Given the description of an element on the screen output the (x, y) to click on. 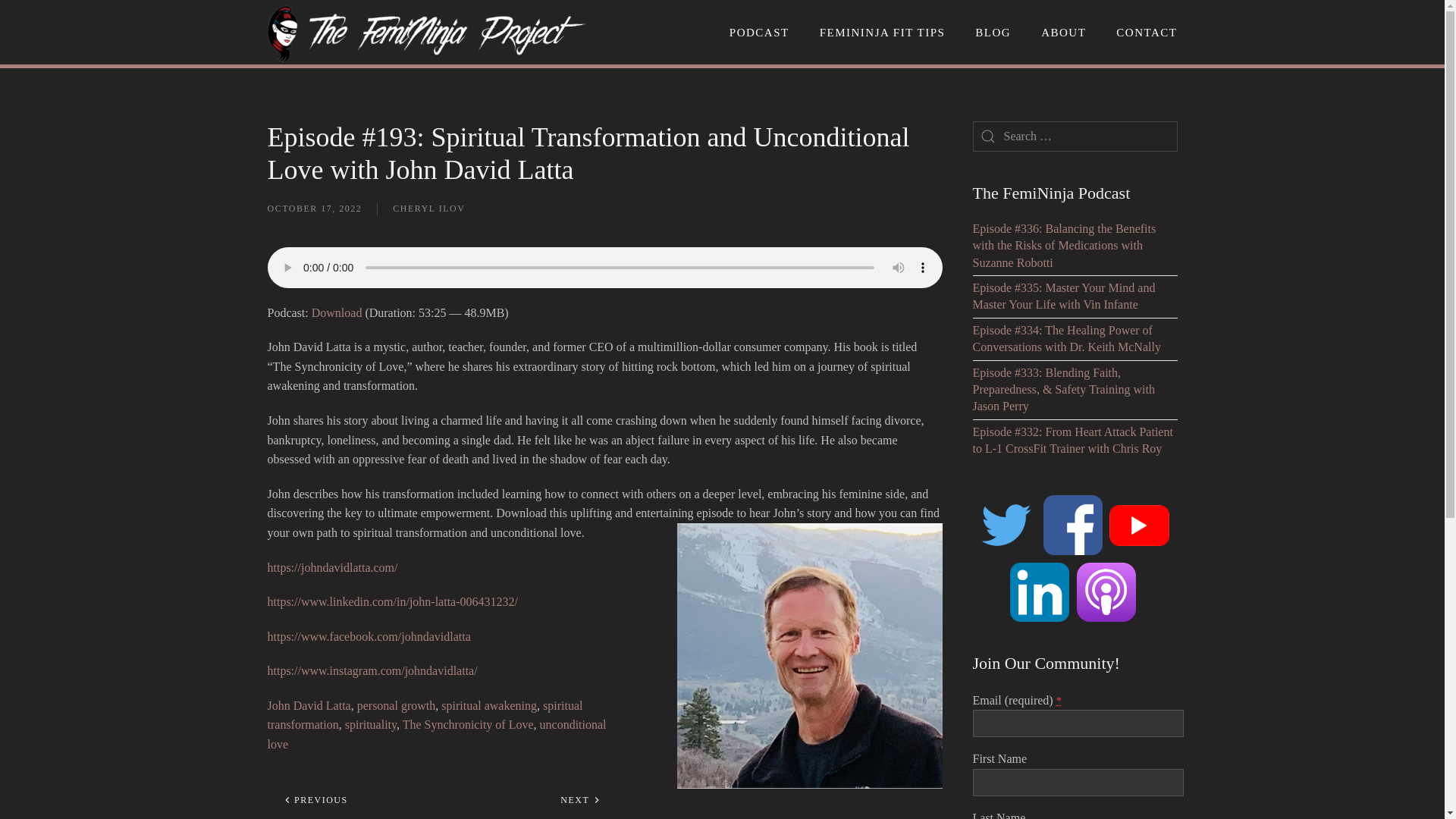
Download (336, 312)
Download (336, 312)
CONTACT (1146, 31)
spiritual transformation (424, 715)
NEXT (579, 799)
unconditional love (435, 734)
personal growth (395, 705)
FEMININJA FIT TIPS (882, 31)
John David Latta (308, 705)
The Synchronicity of Love (468, 724)
